Given the description of an element on the screen output the (x, y) to click on. 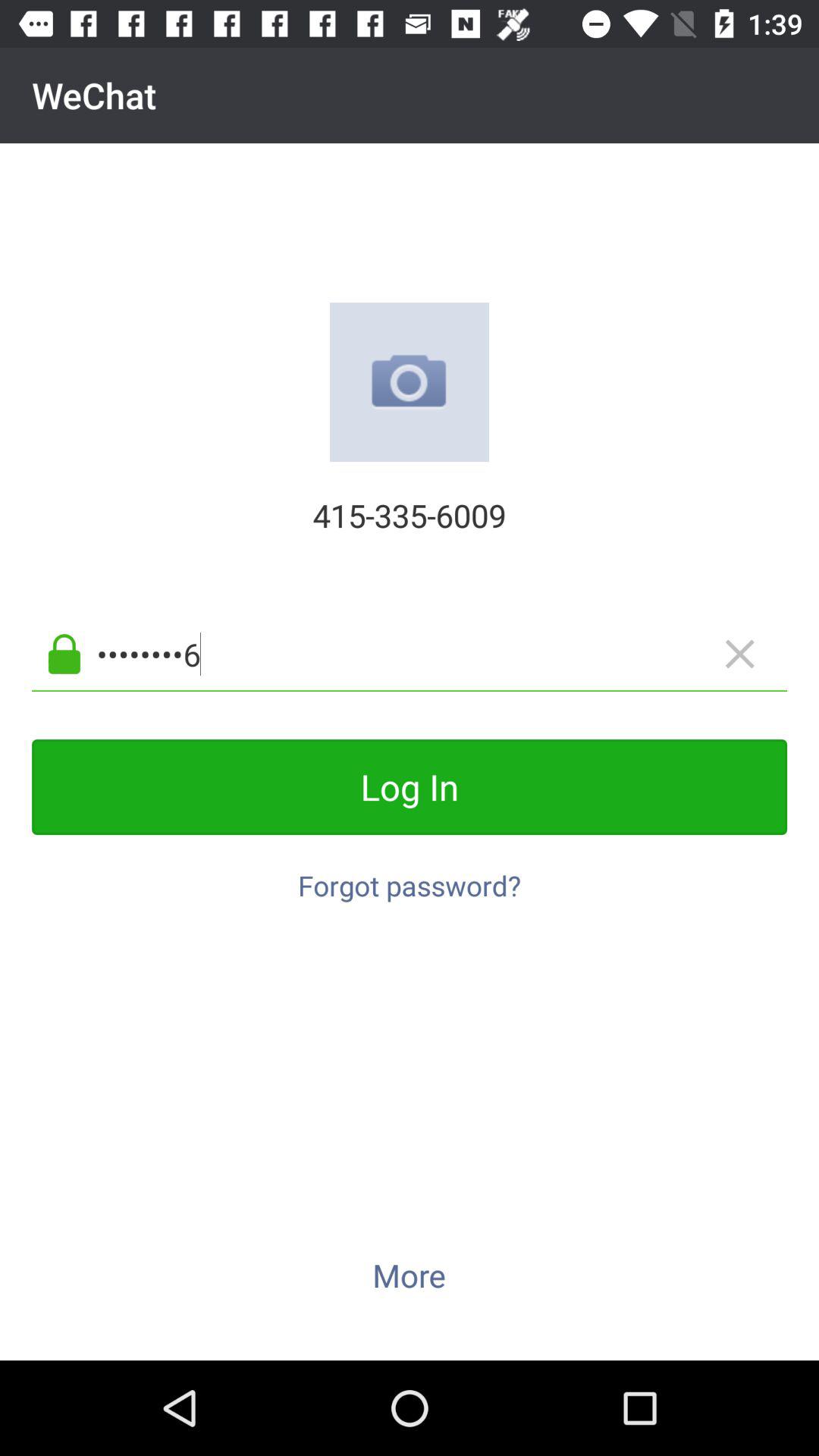
scroll to the log in button (409, 786)
